Given the description of an element on the screen output the (x, y) to click on. 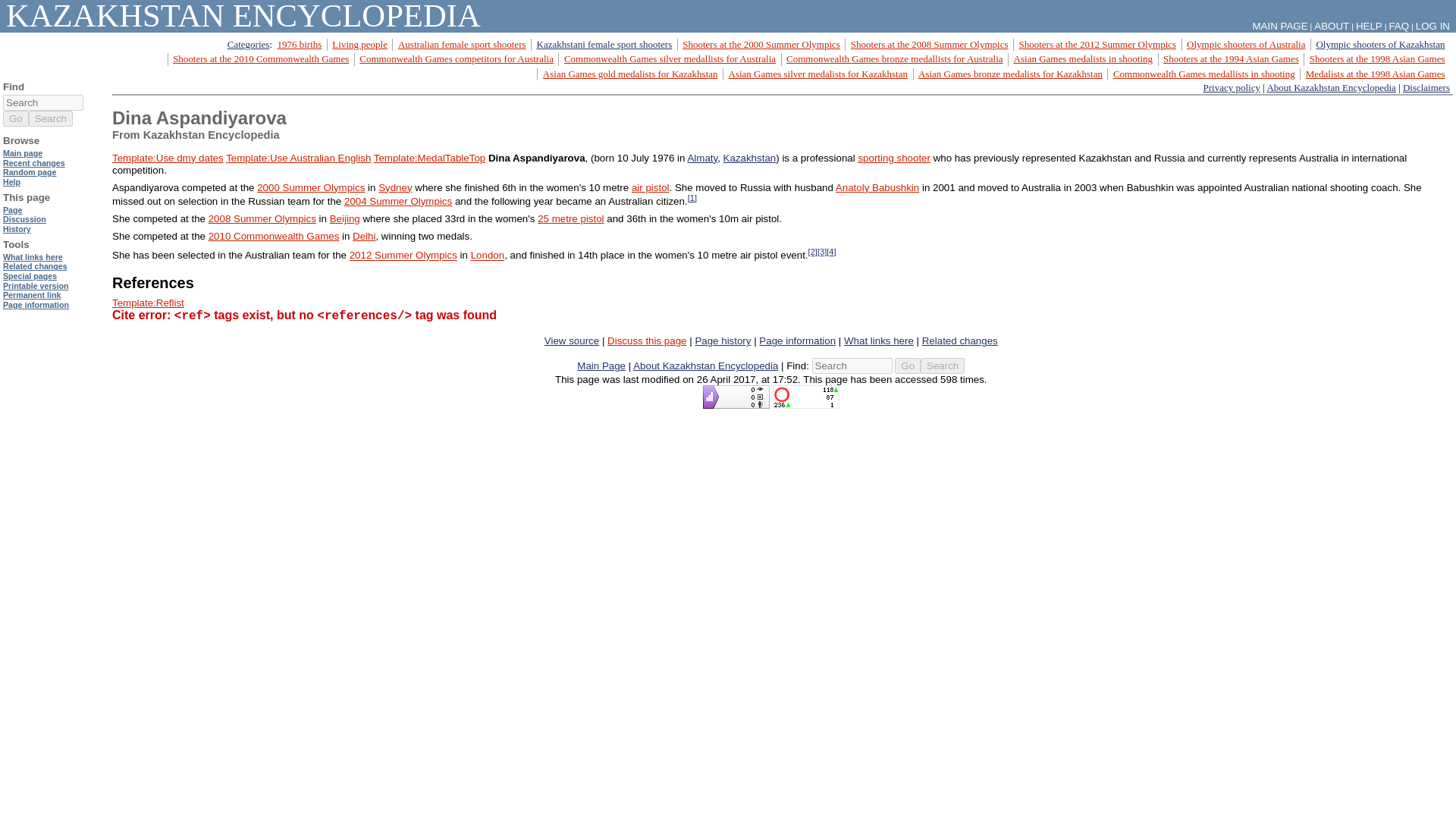
Shooters at the 2000 Summer Olympics (761, 43)
1976 births (298, 43)
Go (907, 365)
About Kazakhstan Encyclopedia (1330, 87)
Kazakhstan (749, 156)
Asian Games silver medalists for Kazakhstan (818, 73)
Disclaimers (1426, 87)
Go (907, 365)
Search (941, 365)
Australian female sport shooters (461, 43)
Olympic shooters of Australia (1245, 43)
Commonwealth Games bronze medallists for Australia (894, 58)
Almaty (702, 156)
sporting shooter (893, 156)
2000 Summer Olympics (311, 187)
